Given the description of an element on the screen output the (x, y) to click on. 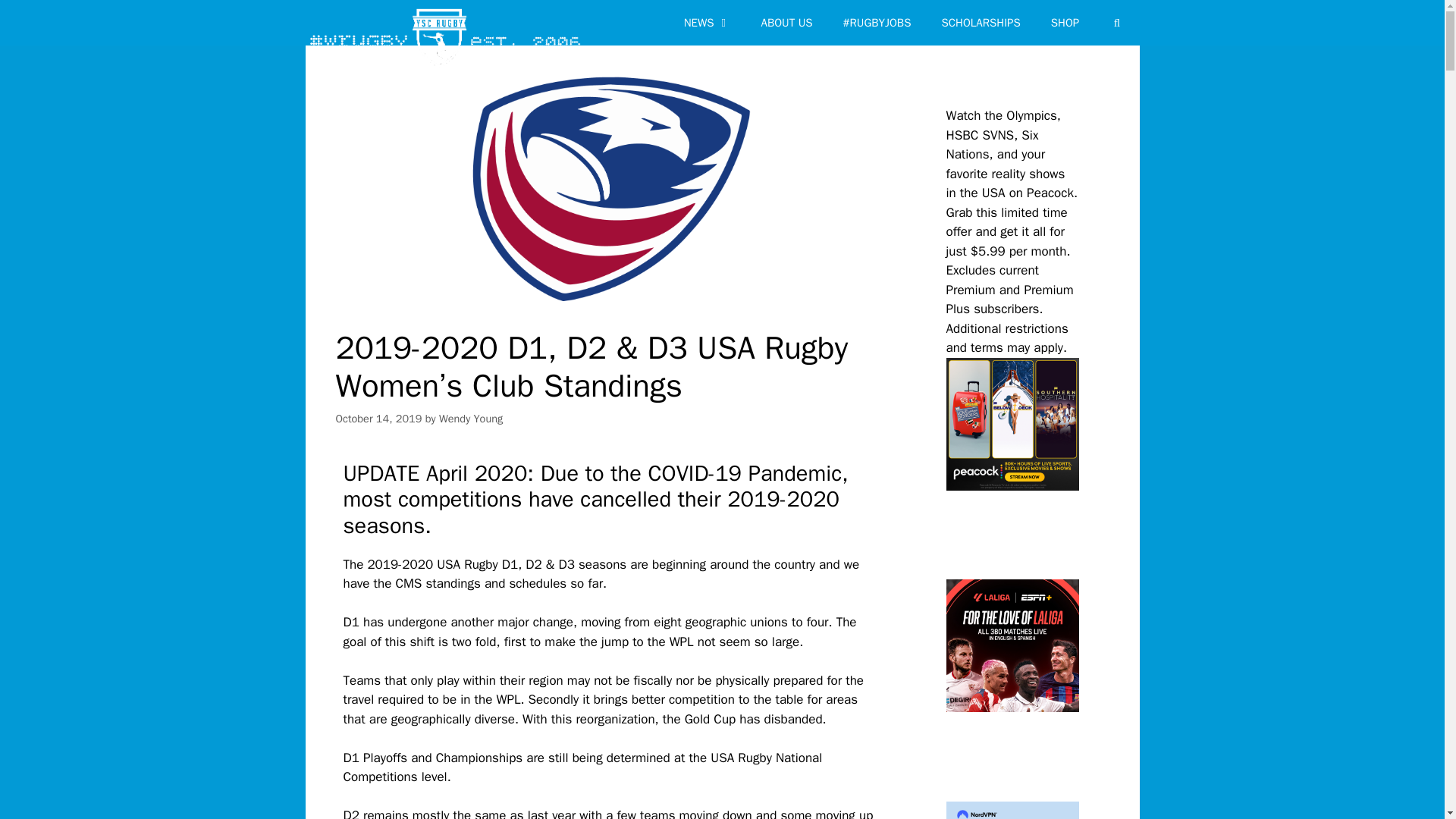
SCHOLARSHIPS (980, 22)
ABOUT US (786, 22)
View all posts by Wendy Young (470, 418)
NEWS (706, 22)
